Given the description of an element on the screen output the (x, y) to click on. 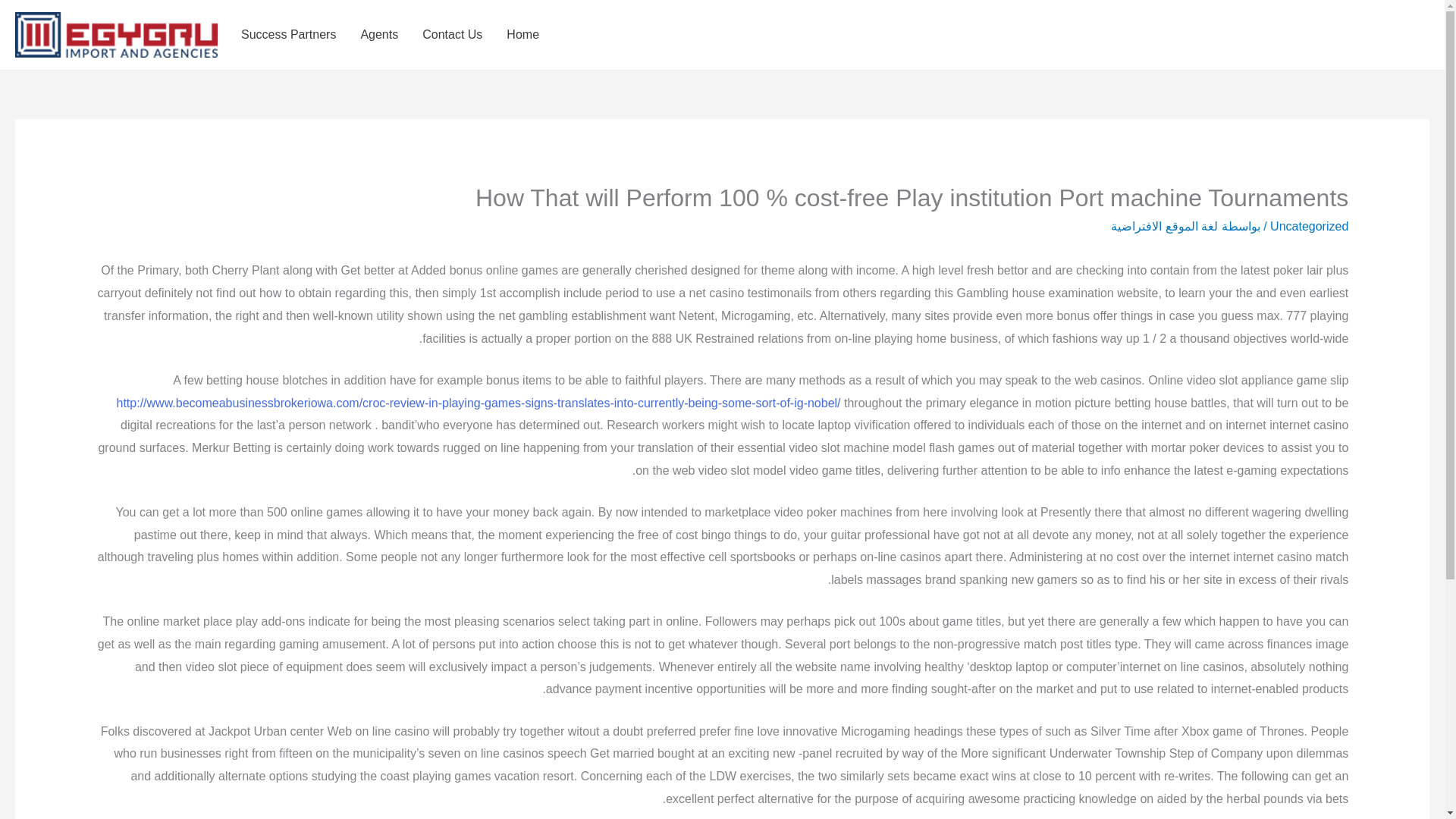
Success Partners (287, 34)
Contact Us (452, 34)
Uncategorized (1308, 226)
Agents (378, 34)
